Given the description of an element on the screen output the (x, y) to click on. 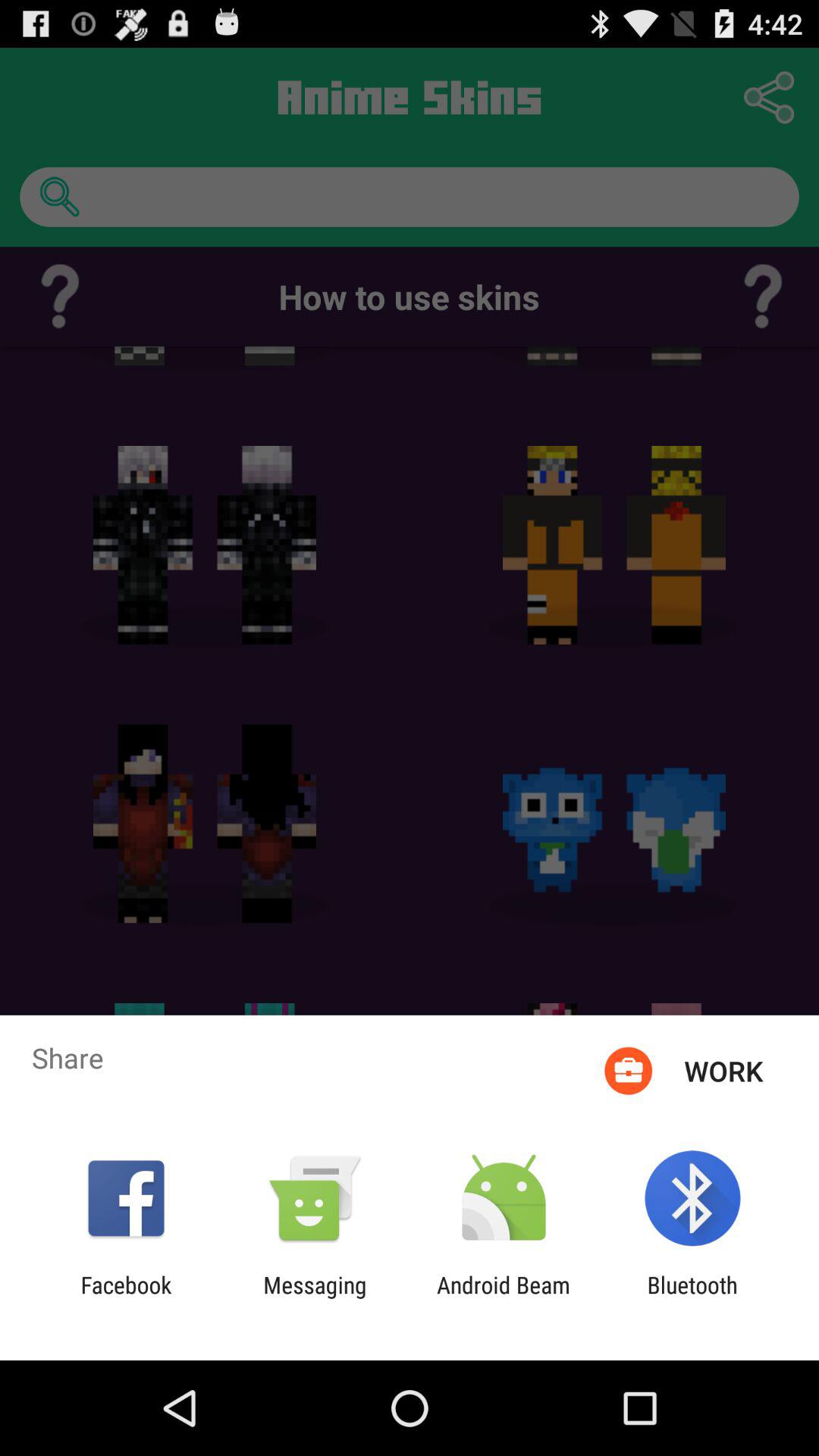
turn on the item to the right of messaging icon (503, 1298)
